Given the description of an element on the screen output the (x, y) to click on. 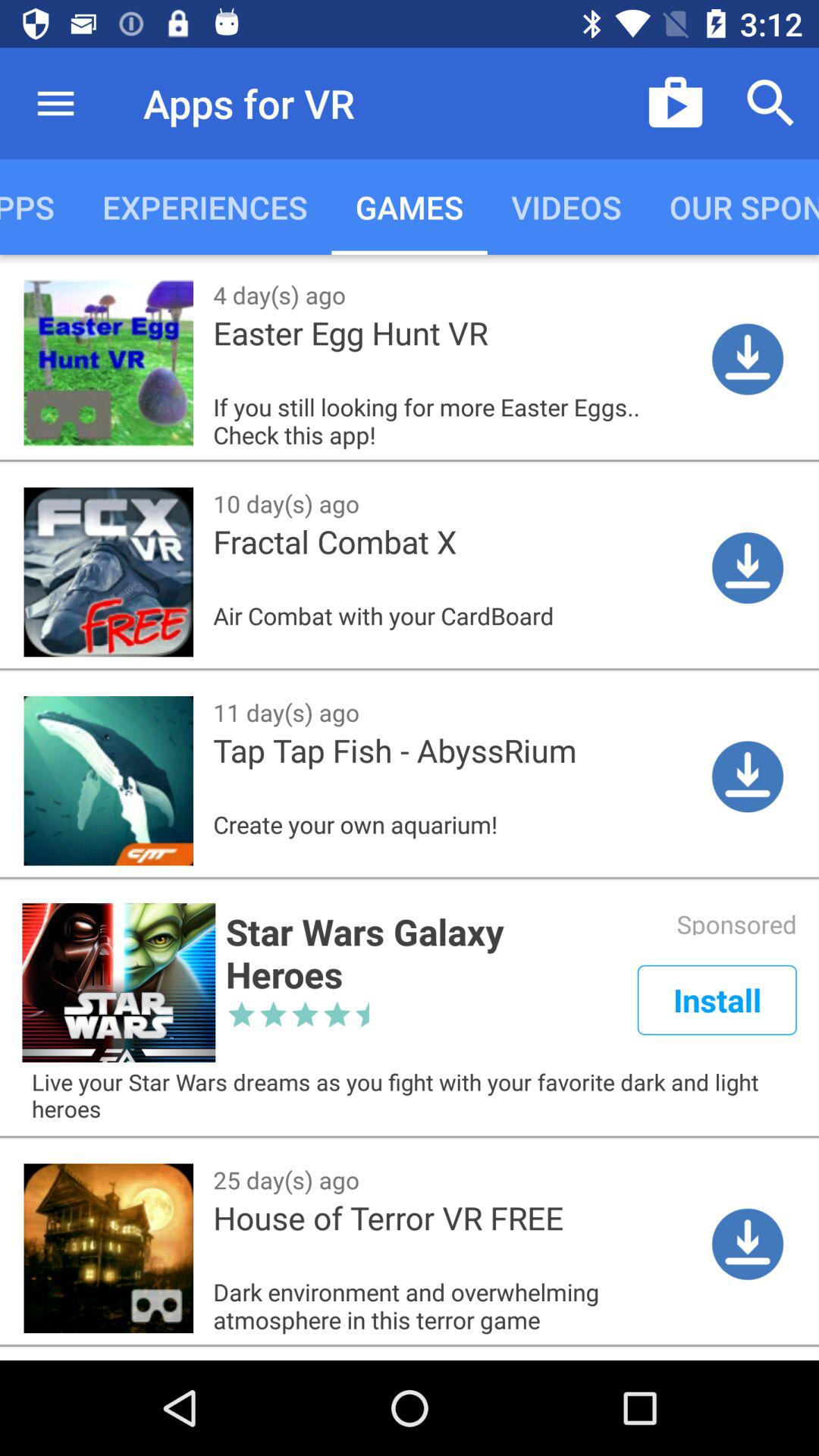
select install which is below sponsored (717, 1000)
select the image left to fractal combat x (108, 571)
click on icon which is right to apps for vr (675, 103)
select the image left to star wars galaxy heroes (118, 982)
